Given the description of an element on the screen output the (x, y) to click on. 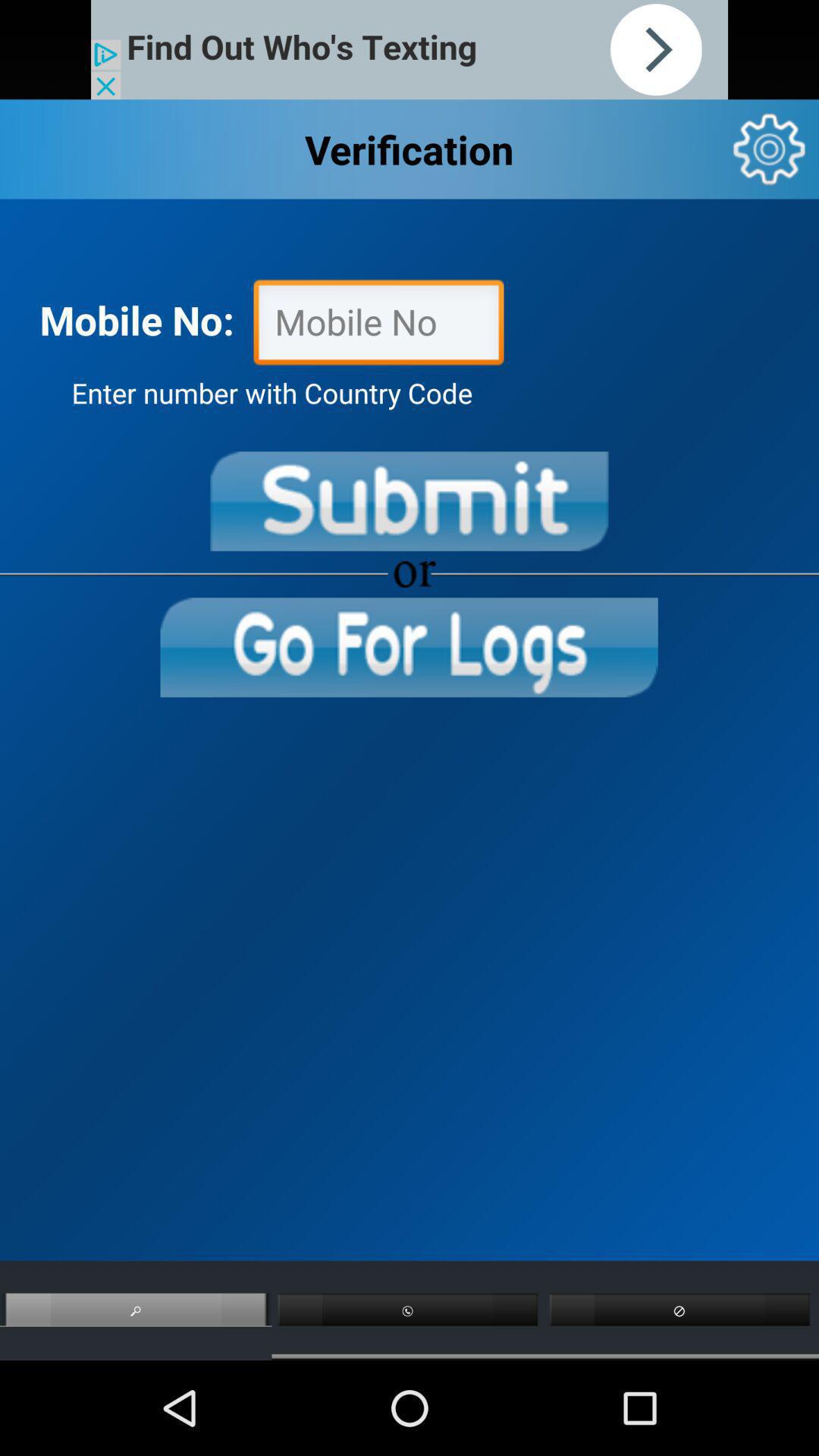
view logs (409, 647)
